Given the description of an element on the screen output the (x, y) to click on. 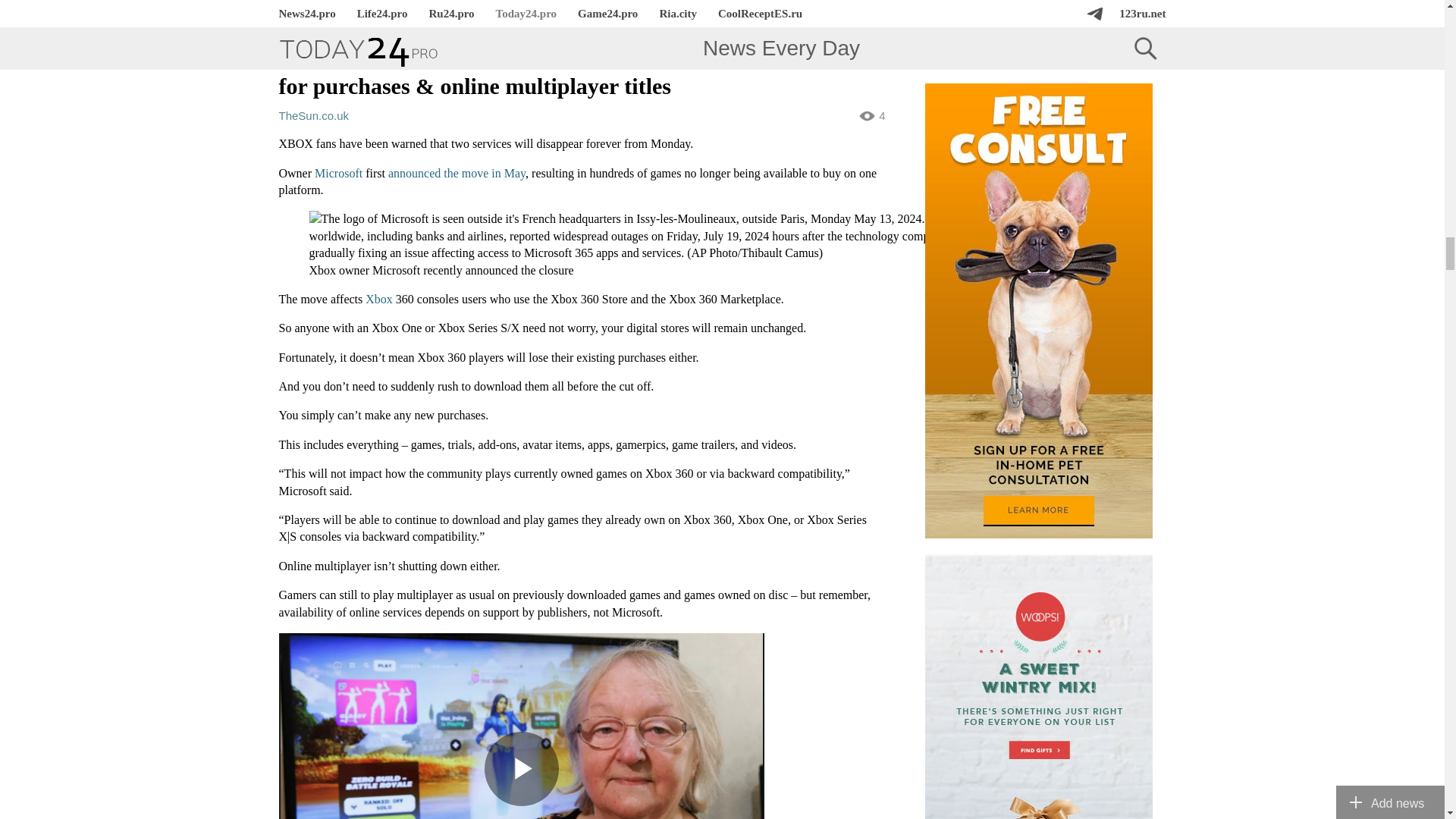
Play Video (520, 768)
